Given the description of an element on the screen output the (x, y) to click on. 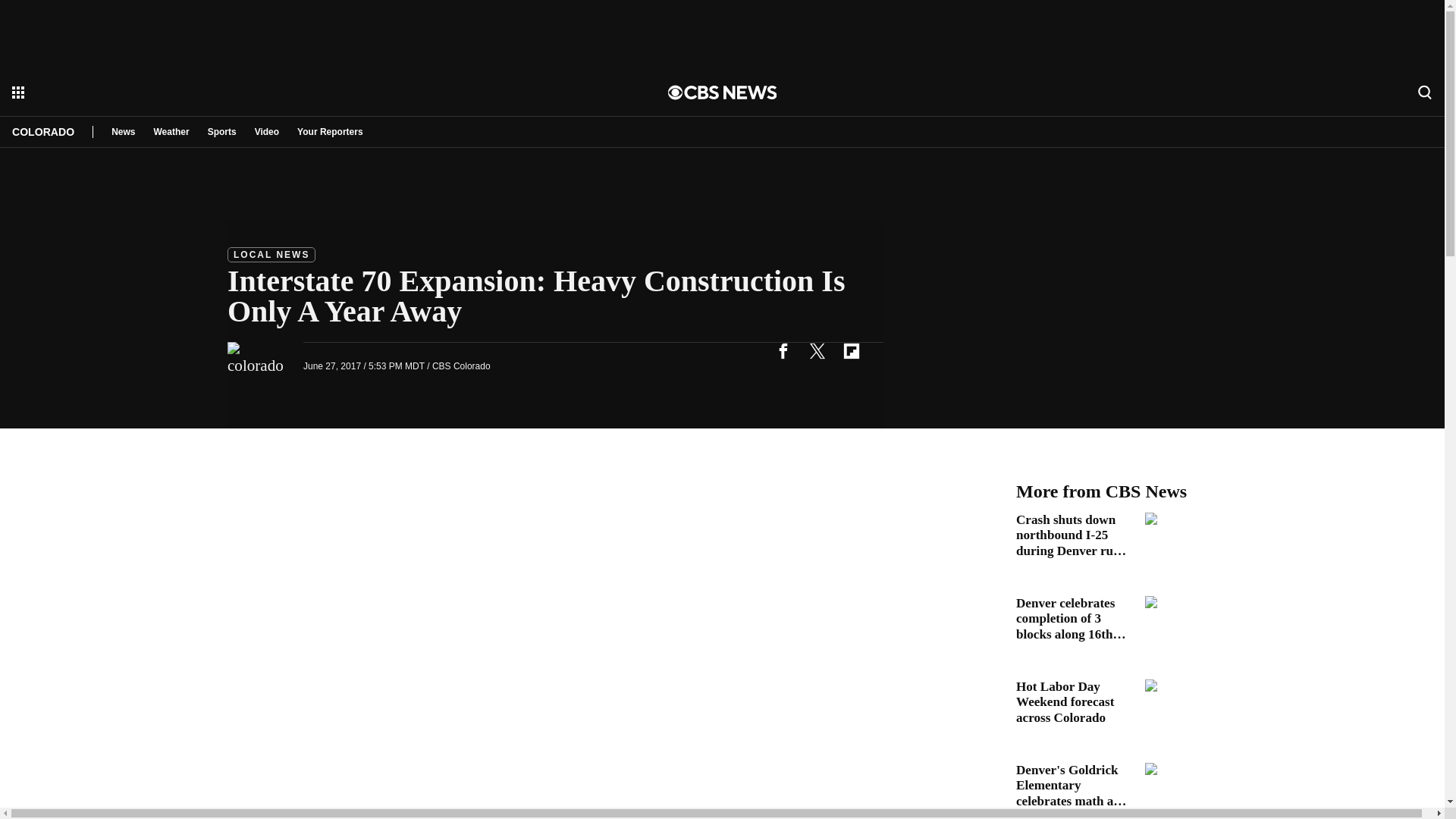
facebook (782, 350)
twitter (816, 350)
flipboard (850, 350)
